Given the description of an element on the screen output the (x, y) to click on. 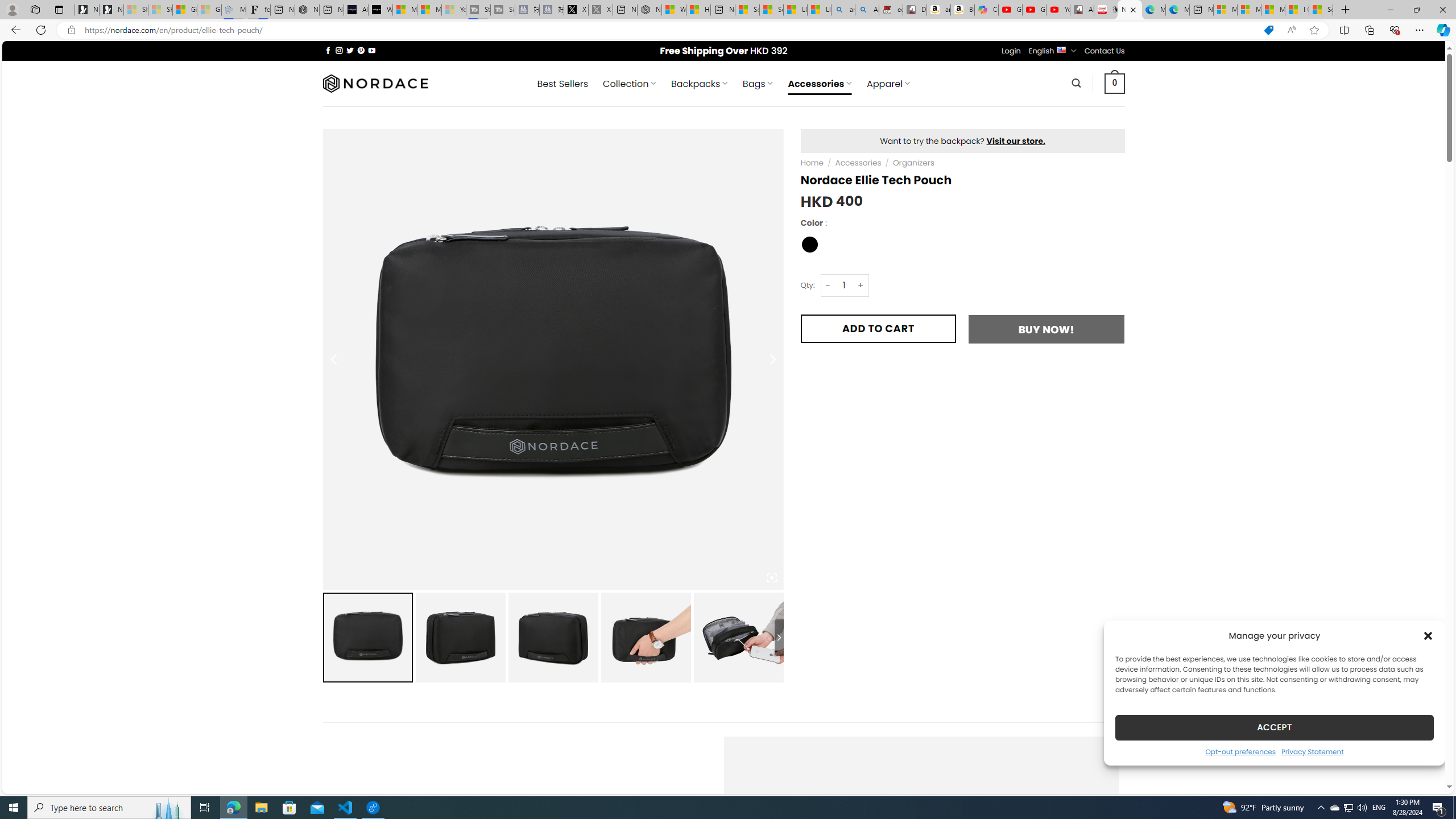
AI Voice Changer for PC and Mac - Voice.ai (355, 9)
Opt-out preferences (1240, 750)
